Given the description of an element on the screen output the (x, y) to click on. 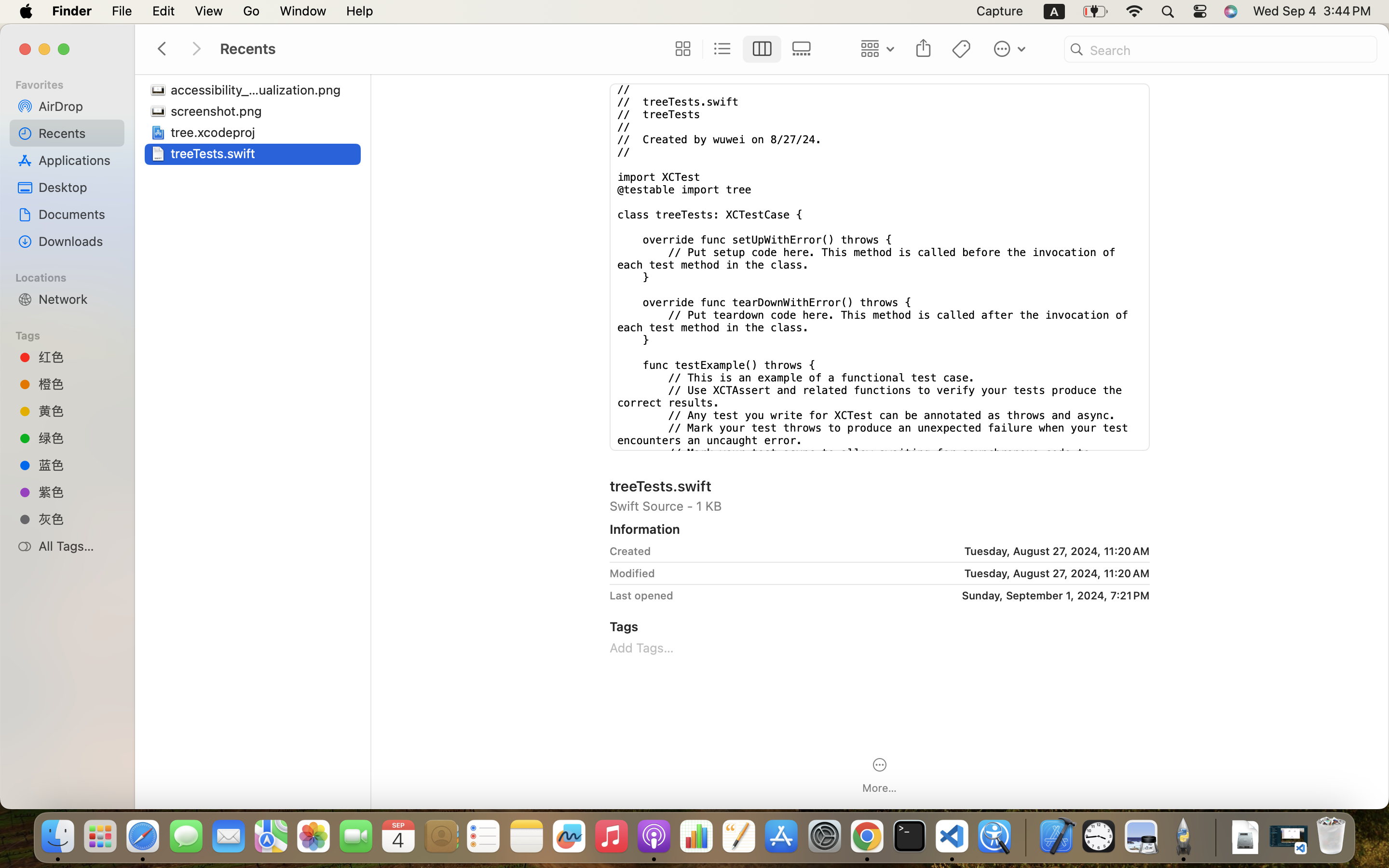
Tags Element type: AXStaticText (72, 334)
绿色 Element type: AXStaticText (77, 437)
Desktop Element type: AXStaticText (77, 186)
Information Element type: AXStaticText (644, 528)
accessibility_visualization.png Element type: AXTextField (258, 89)
